Given the description of an element on the screen output the (x, y) to click on. 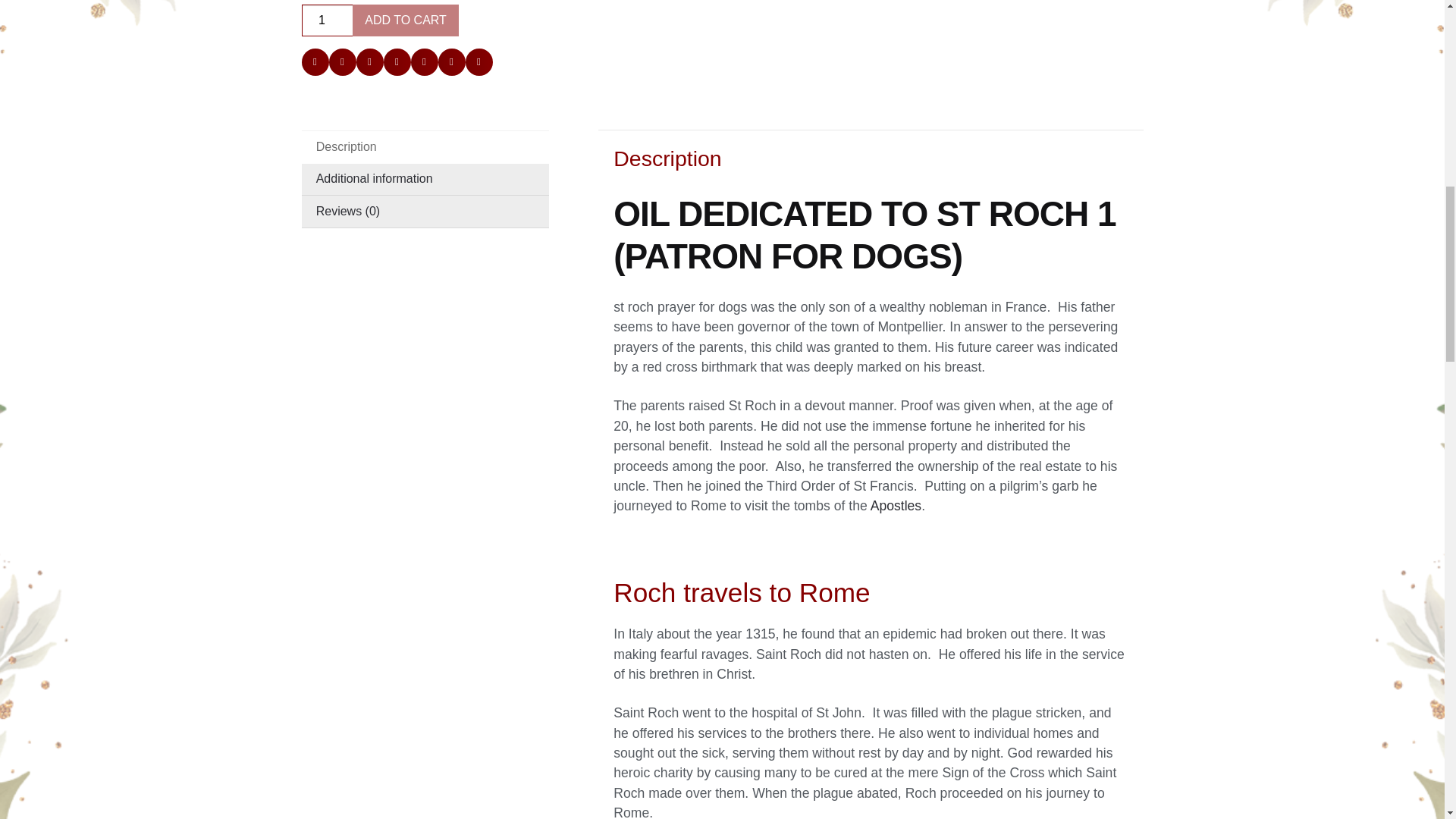
1 (327, 20)
